Given the description of an element on the screen output the (x, y) to click on. 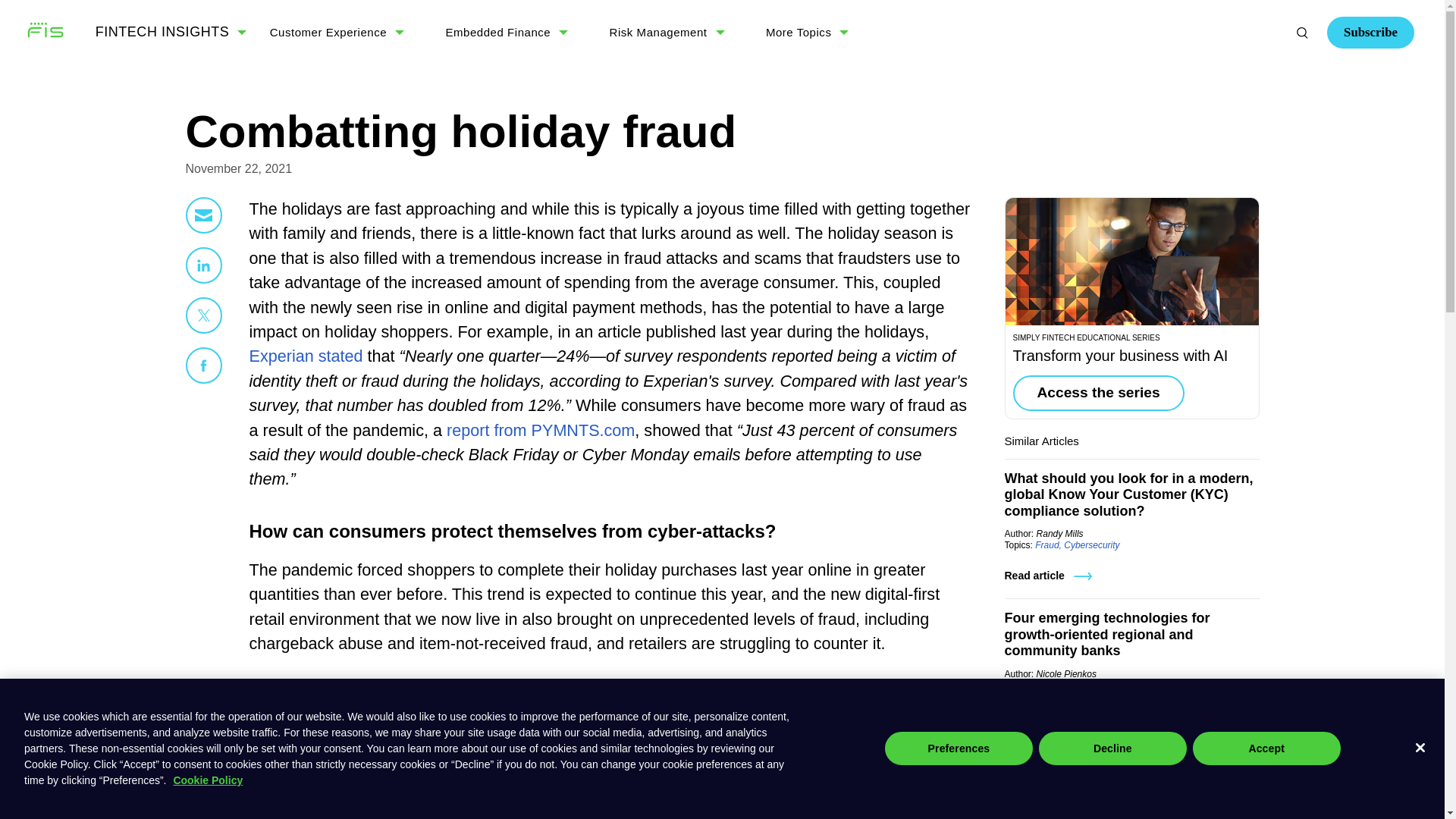
FINTECH INSIGHTS (163, 31)
Subscribe (1369, 32)
Embedded Finance (498, 32)
Customer Experience (328, 32)
Subscribe (1217, 94)
Risk Management (658, 32)
Insight Search (1302, 32)
More Topics (798, 32)
